Given the description of an element on the screen output the (x, y) to click on. 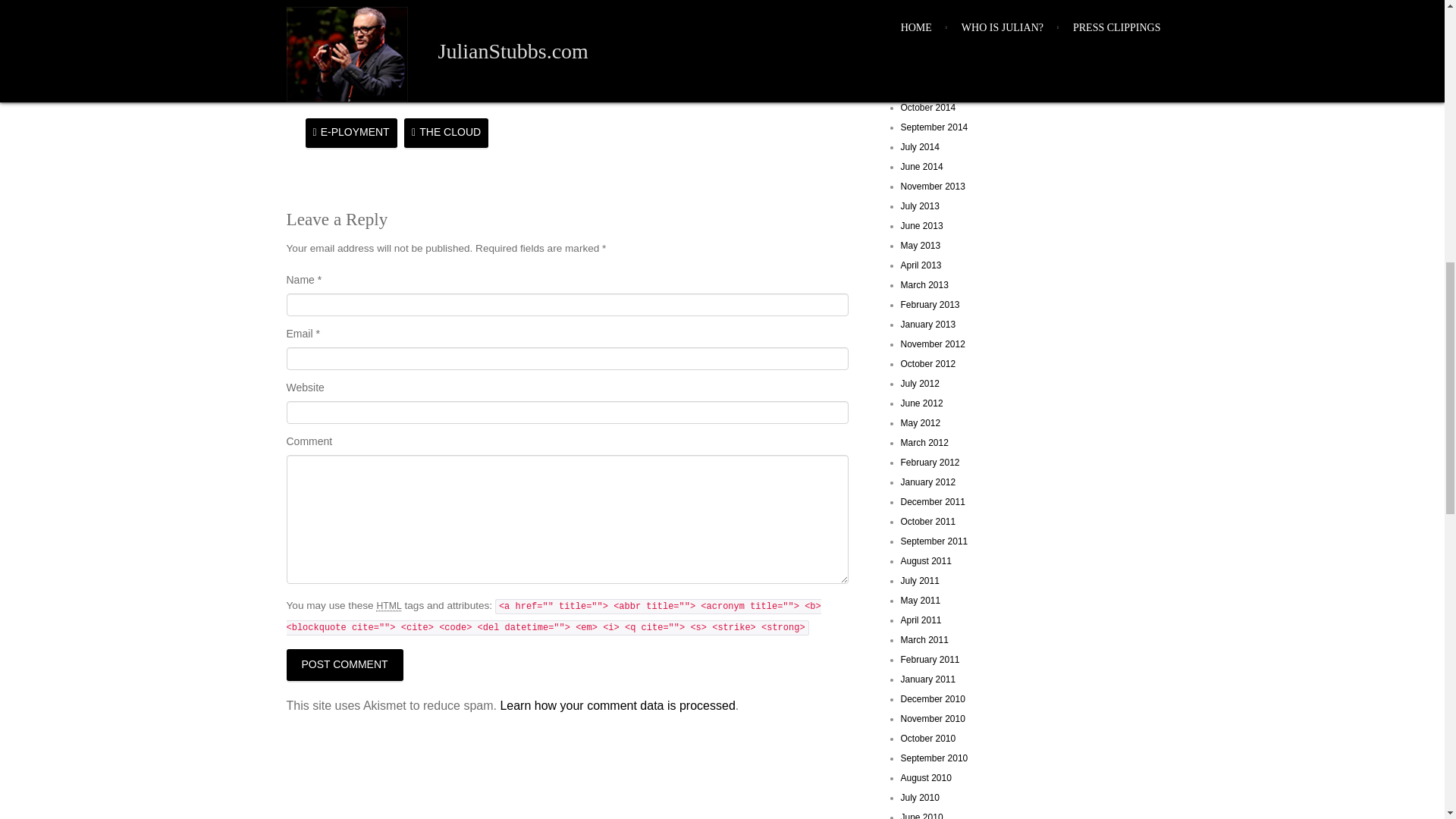
E-Ployment (350, 132)
April 2015 (921, 28)
THE CLOUD (445, 132)
POST COMMENT (344, 664)
May 2015 (920, 9)
Learn how your comment data is processed (617, 705)
the cloud (445, 132)
HyperText Markup Language (388, 605)
E-PLOYMENT (350, 132)
March 2015 (925, 48)
